Given the description of an element on the screen output the (x, y) to click on. 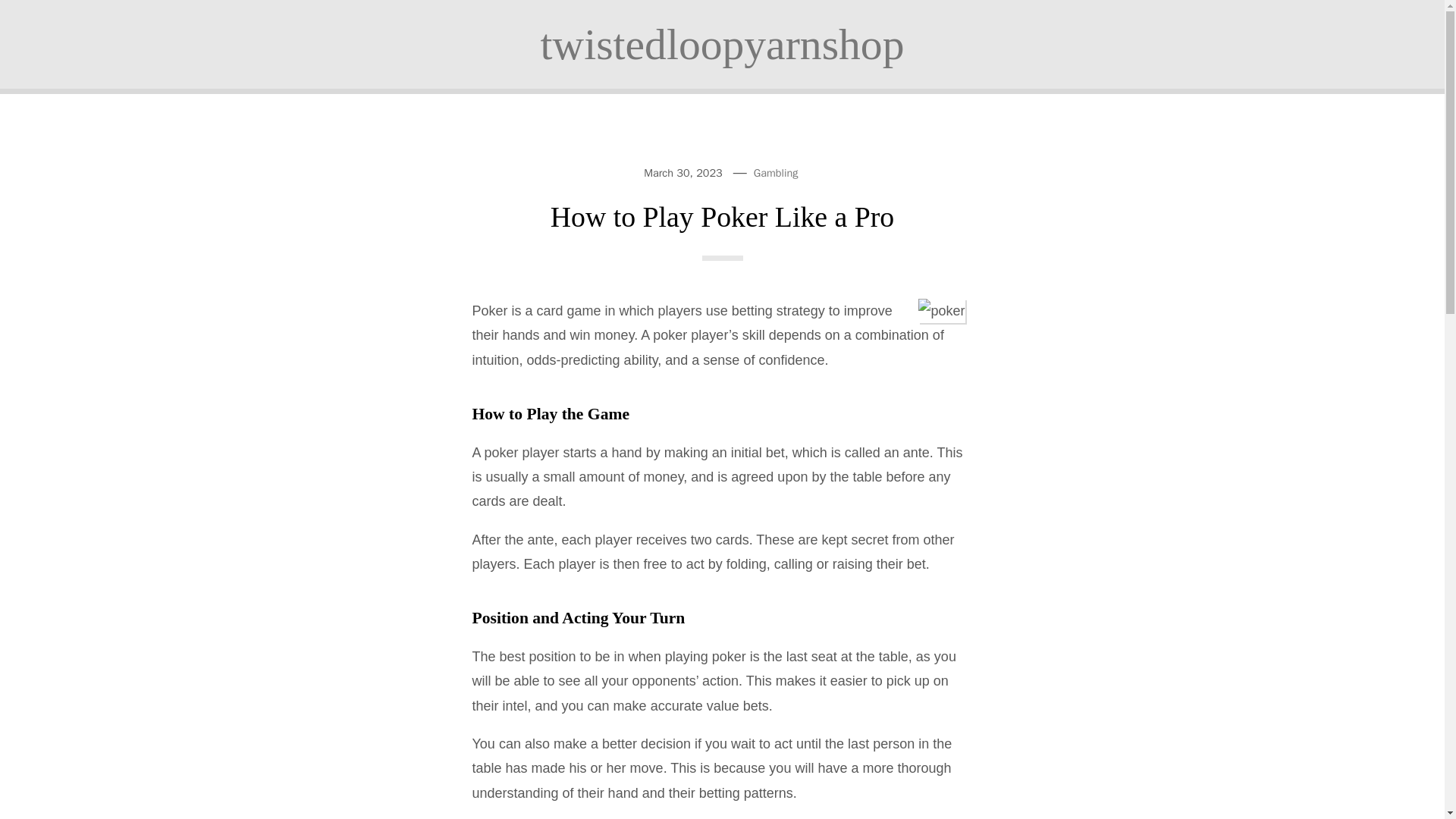
twistedloopyarnshop (722, 43)
Gambling (775, 172)
